Given the description of an element on the screen output the (x, y) to click on. 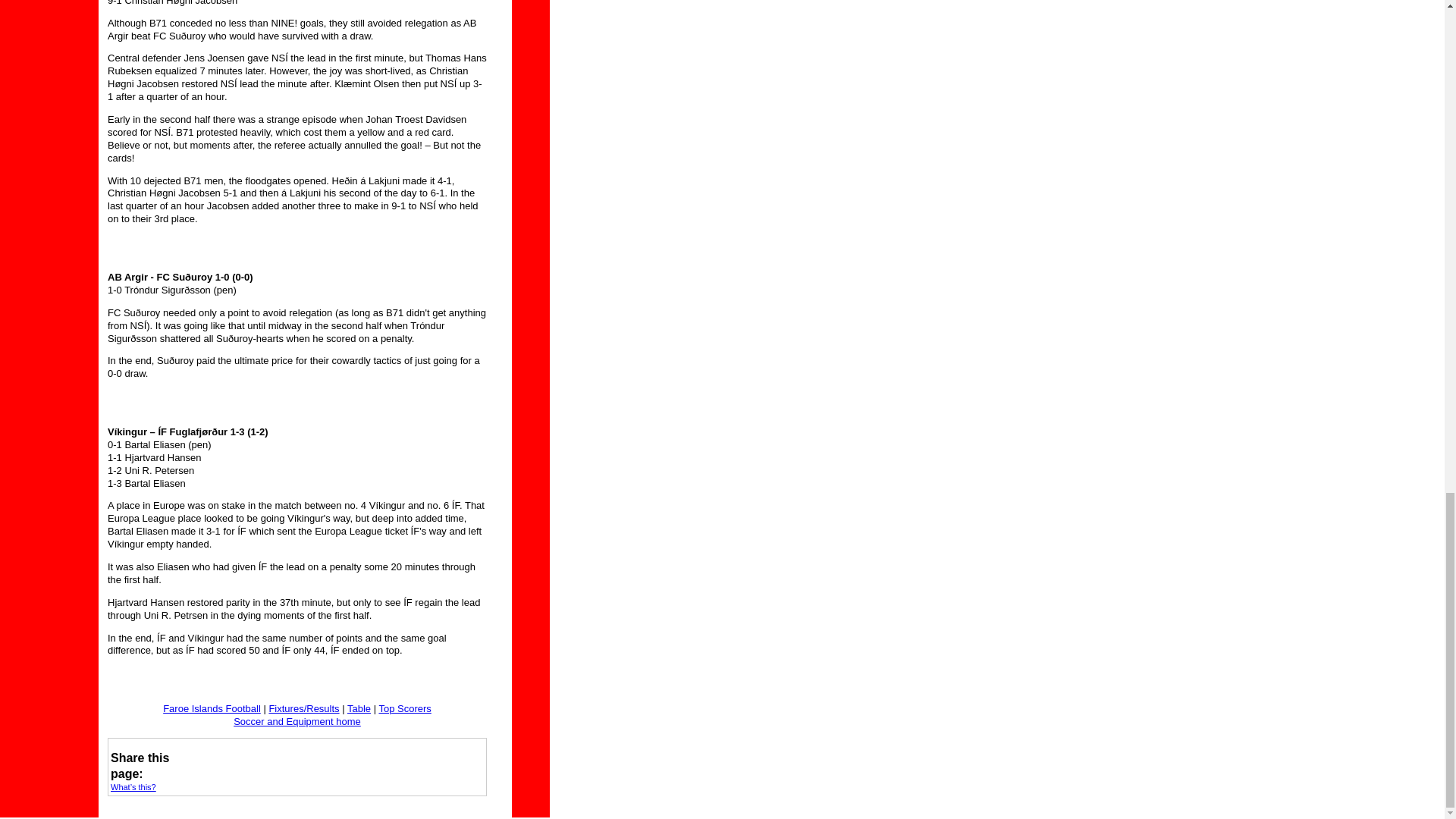
Soccer and Equipment home (296, 721)
Top Scorers (404, 708)
Table (359, 708)
Faroe Islands Football (211, 708)
